Given the description of an element on the screen output the (x, y) to click on. 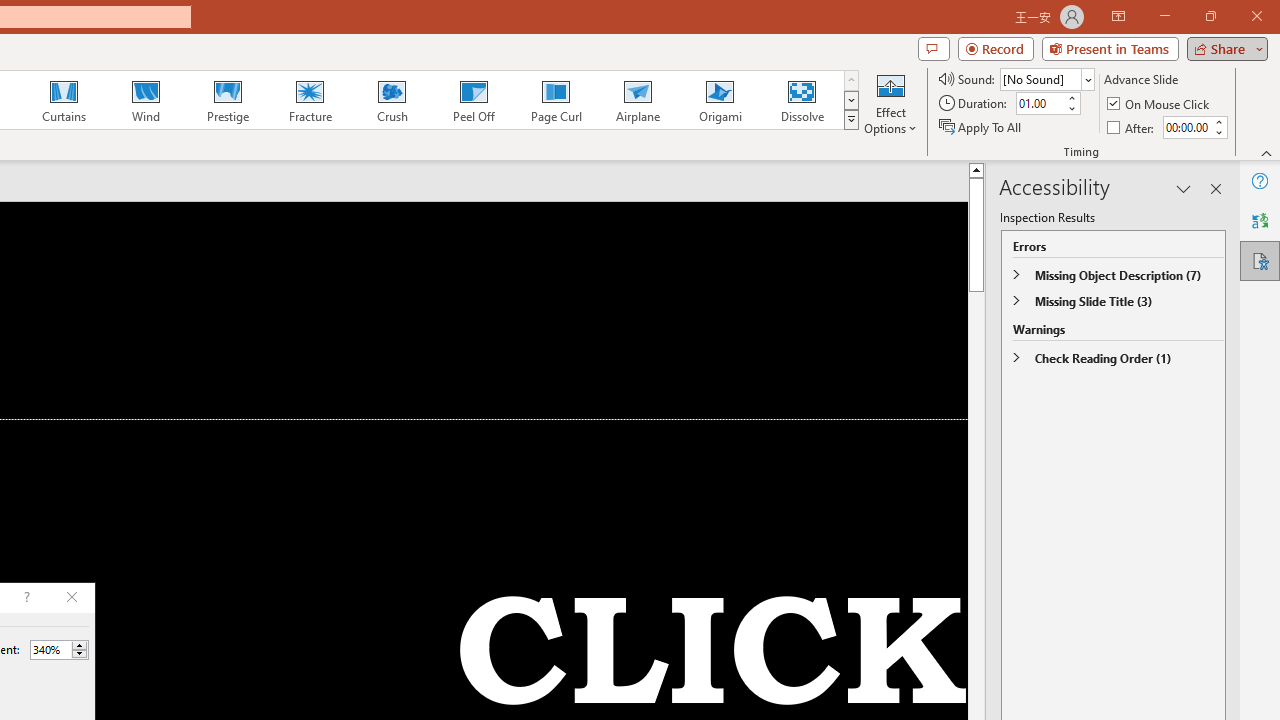
Effect Options (890, 102)
Origami (719, 100)
Fracture (309, 100)
Curtains (63, 100)
After (1186, 127)
Percent (59, 650)
